Given the description of an element on the screen output the (x, y) to click on. 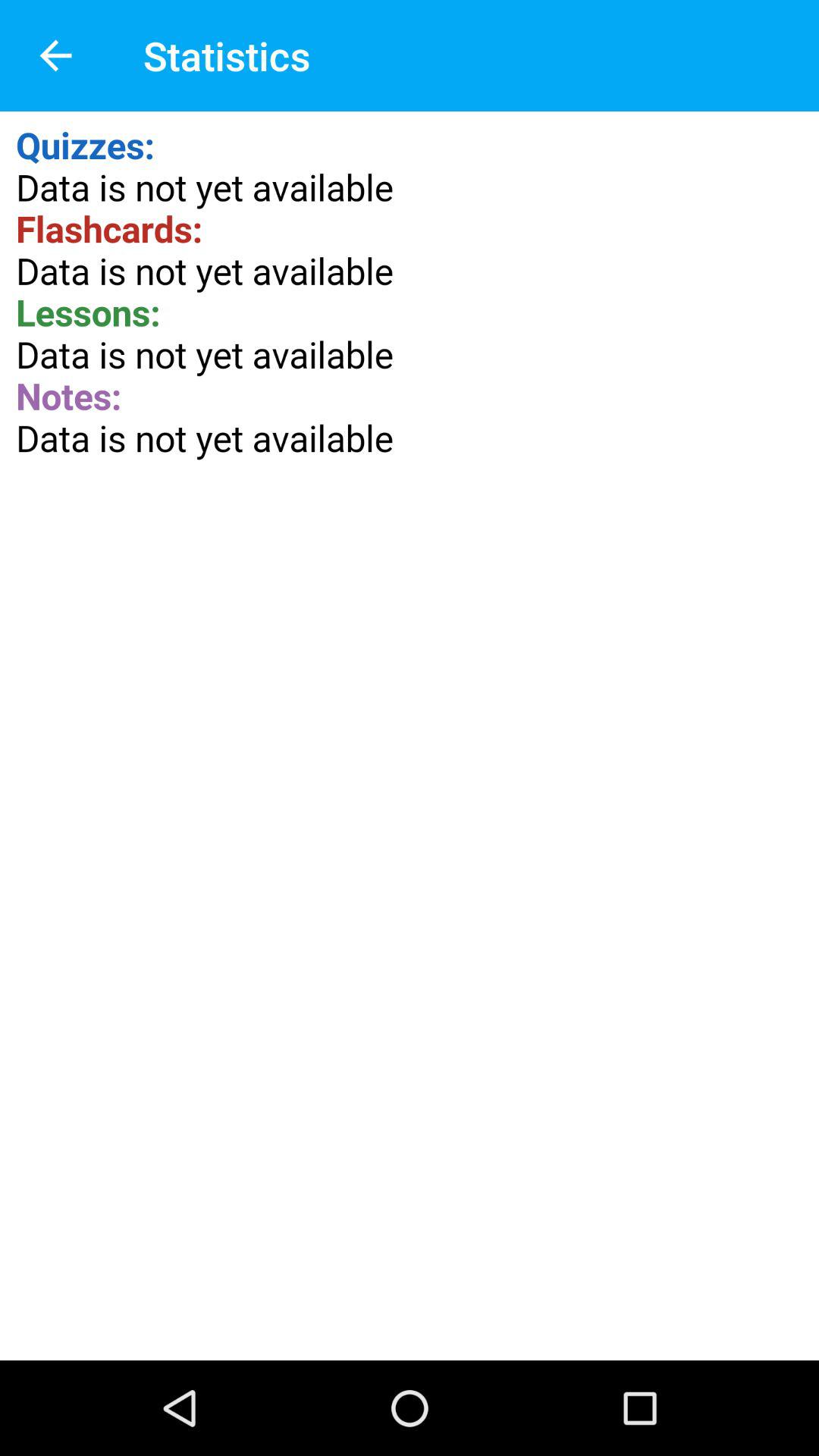
open the item to the left of statistics (55, 55)
